Given the description of an element on the screen output the (x, y) to click on. 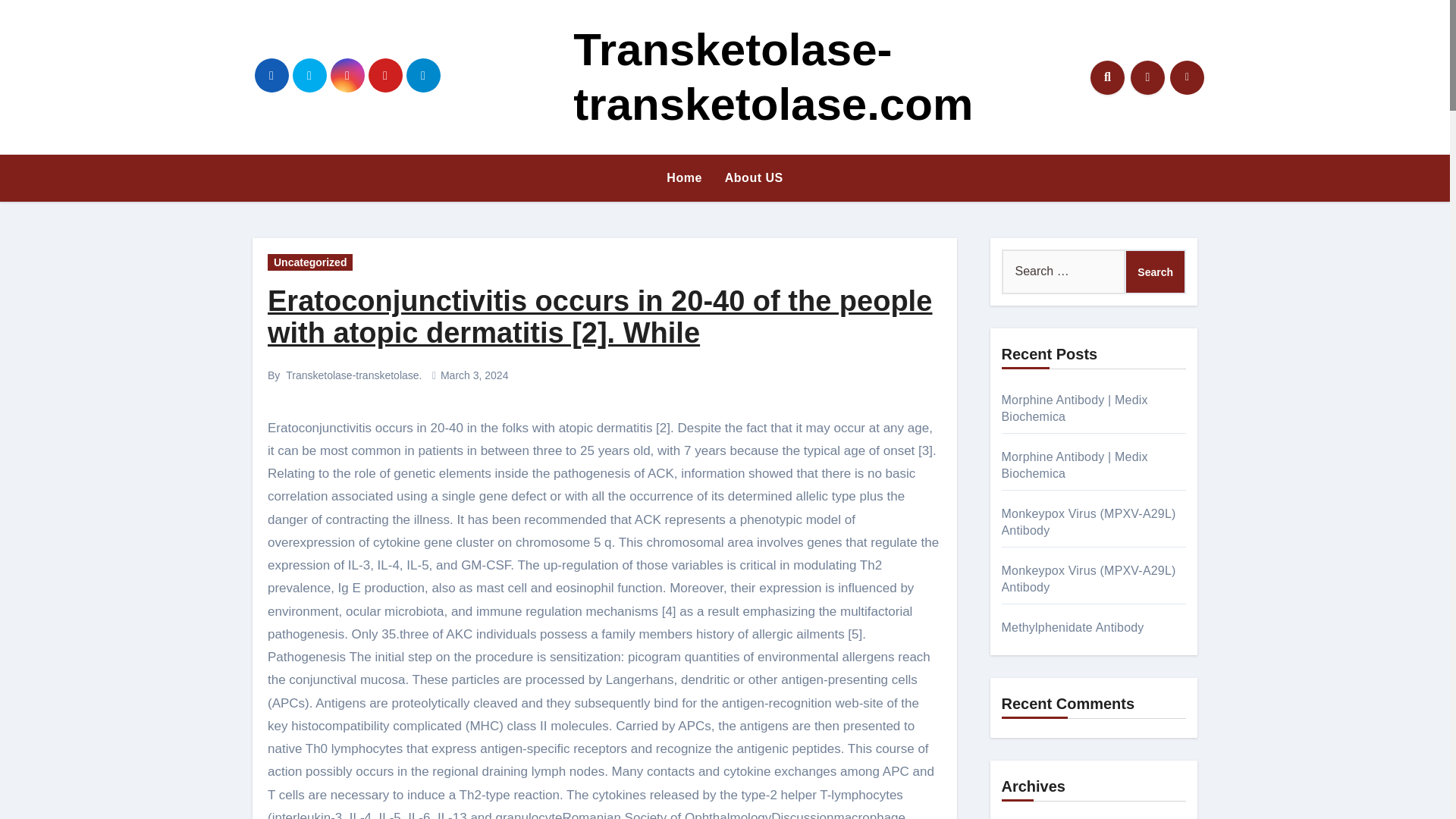
Search (1155, 271)
Transketolase-transketolase. (353, 375)
Transketolase-transketolase.com (772, 76)
Uncategorized (309, 262)
About US (753, 177)
Home (684, 177)
Search (1155, 271)
Home (684, 177)
About US (753, 177)
March 3, 2024 (474, 375)
